Given the description of an element on the screen output the (x, y) to click on. 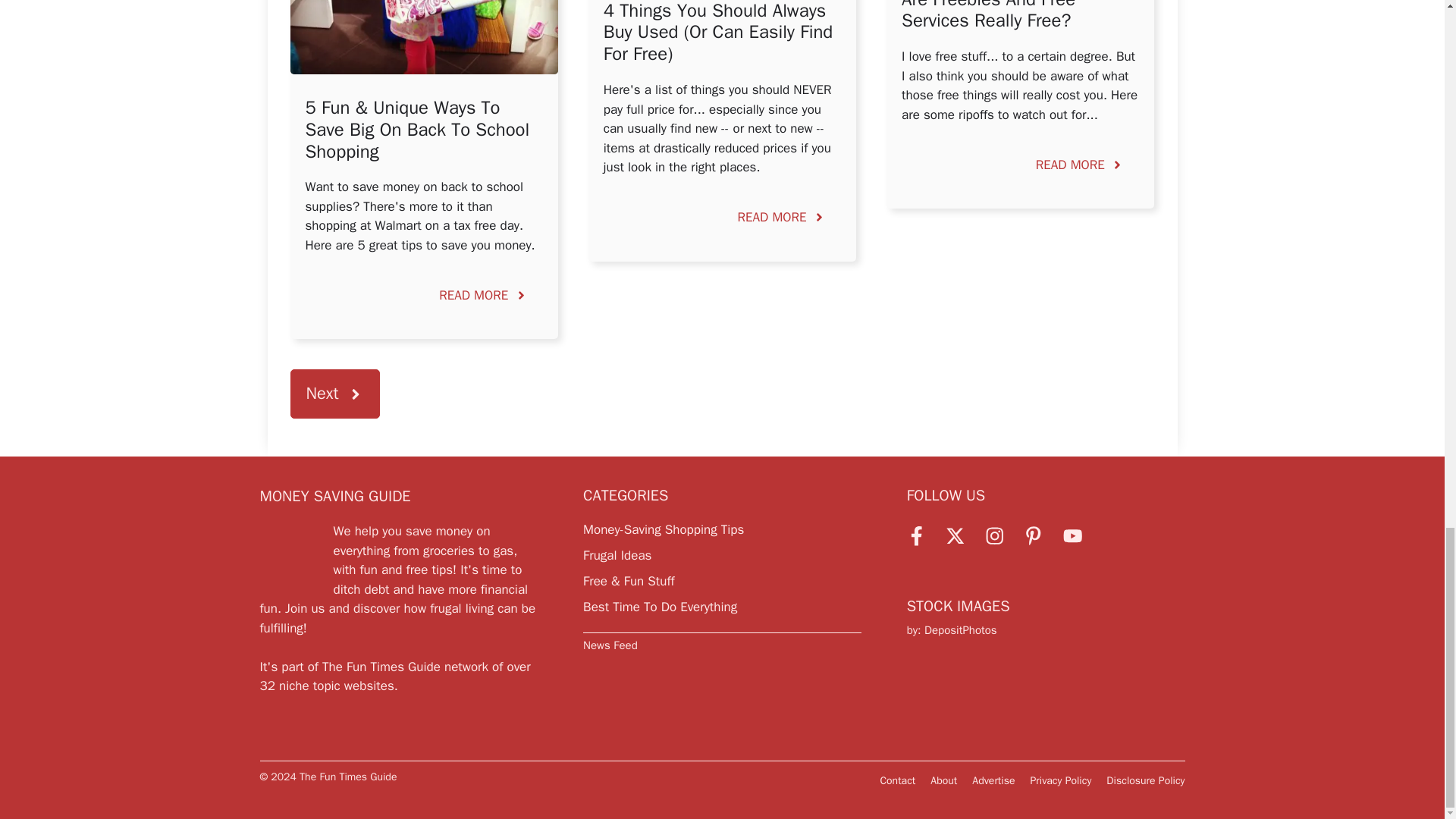
READ MORE (781, 217)
Scroll back to top (1406, 28)
Are Freebies And Free Services Really Free? (988, 16)
Money-Saving Shopping Tips (663, 529)
READ MORE (1080, 165)
READ MORE (483, 295)
Next (333, 393)
The Fun Times Guide (381, 666)
